Given the description of an element on the screen output the (x, y) to click on. 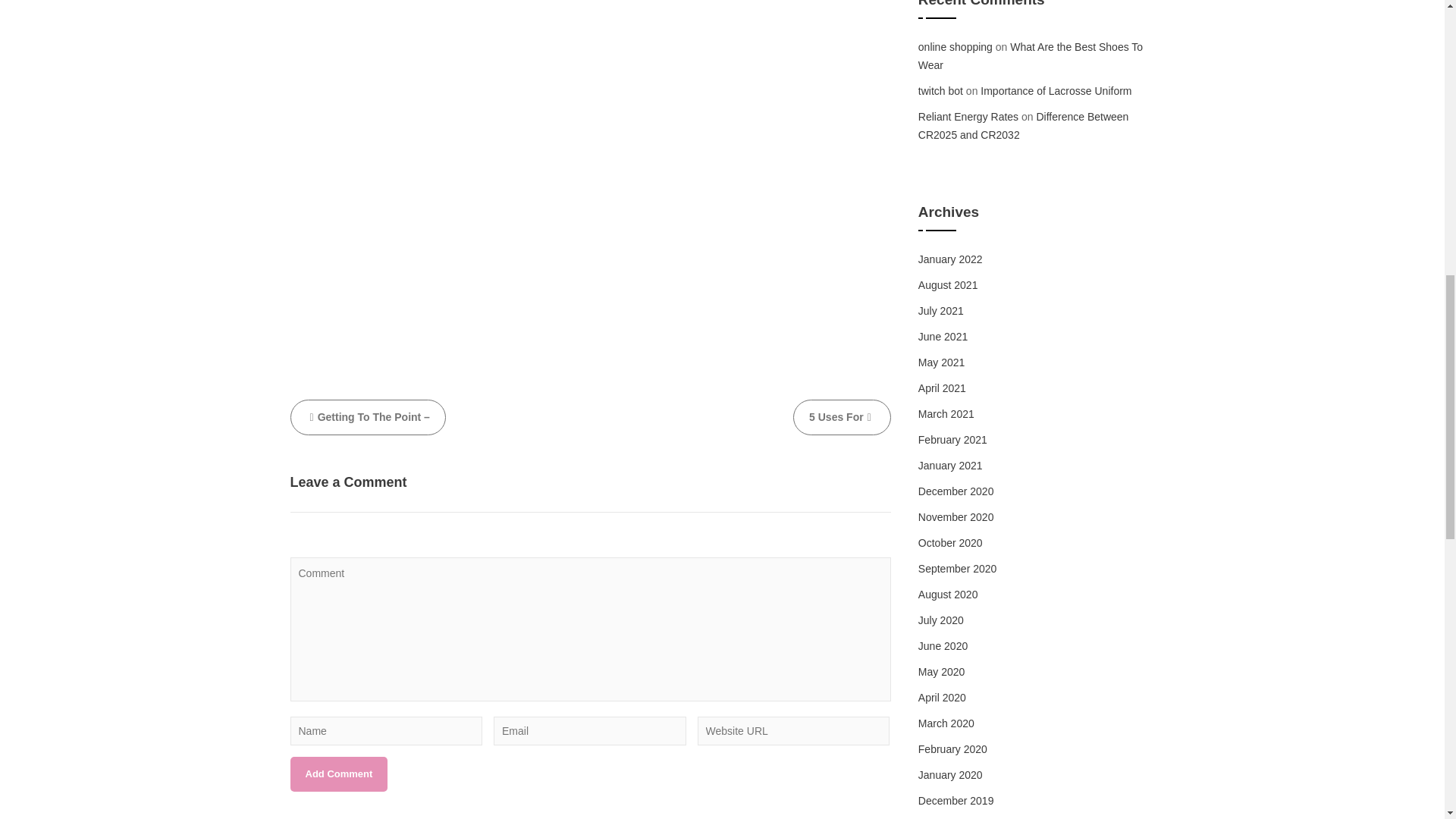
Difference Between CR2025 and CR2032 (1023, 125)
What Are the Best Shoes To Wear (1030, 55)
Add Comment (338, 773)
March 2021 (946, 413)
April 2021 (942, 387)
November 2020 (956, 517)
June 2021 (943, 336)
5 Uses For (842, 416)
August 2021 (948, 285)
July 2021 (940, 310)
